Given the description of an element on the screen output the (x, y) to click on. 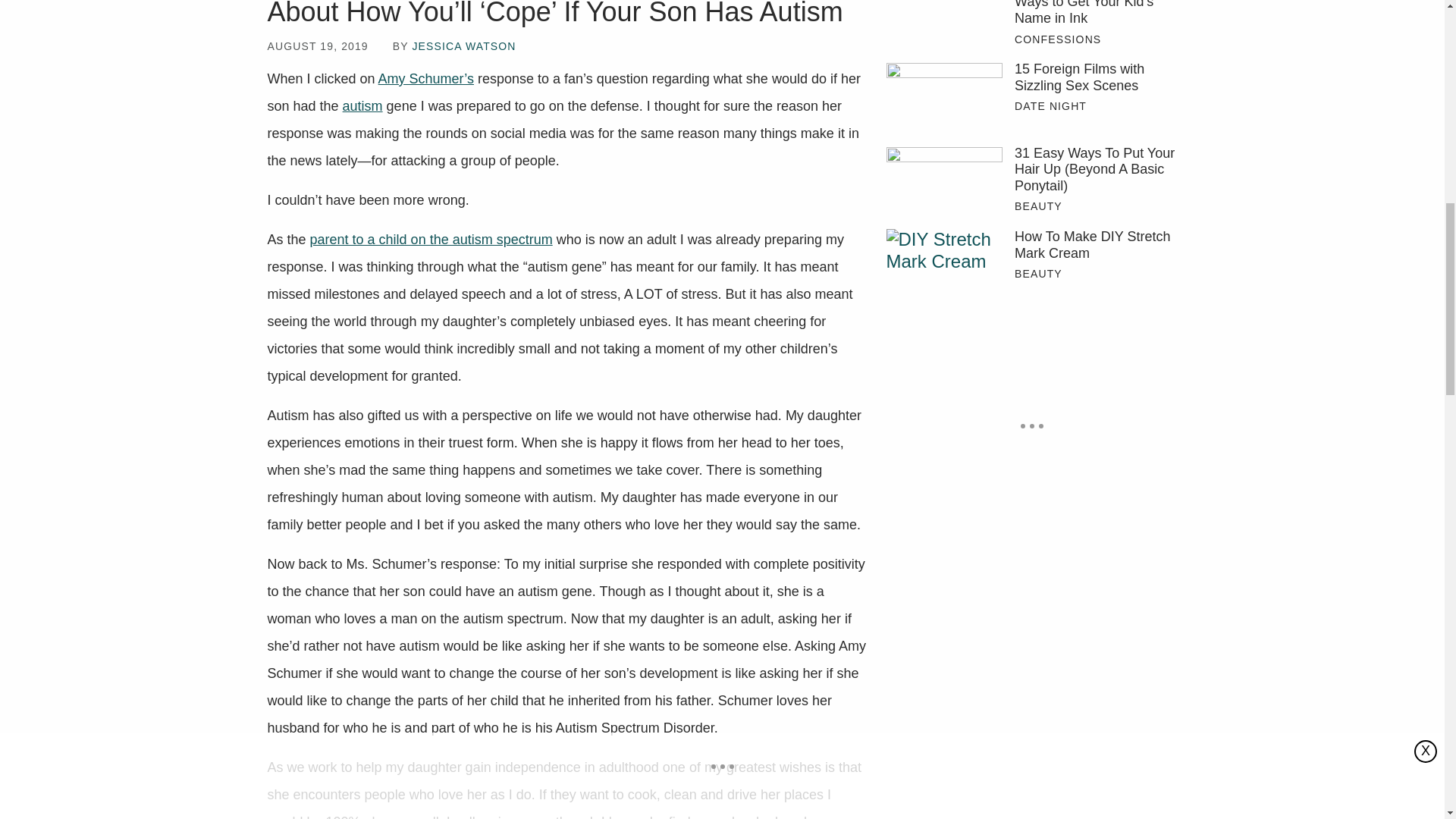
15 Foreign Films with Sizzling Sex Scenes (944, 99)
parent to a child on the autism spectrum (431, 239)
15 Foreign Films with Sizzling Sex Scenes (1095, 77)
JESSICA WATSON (463, 46)
How To Make DIY Stretch Mark Cream (944, 267)
autism (362, 105)
How To Make DIY Stretch Mark Cream (1095, 245)
